Given the description of an element on the screen output the (x, y) to click on. 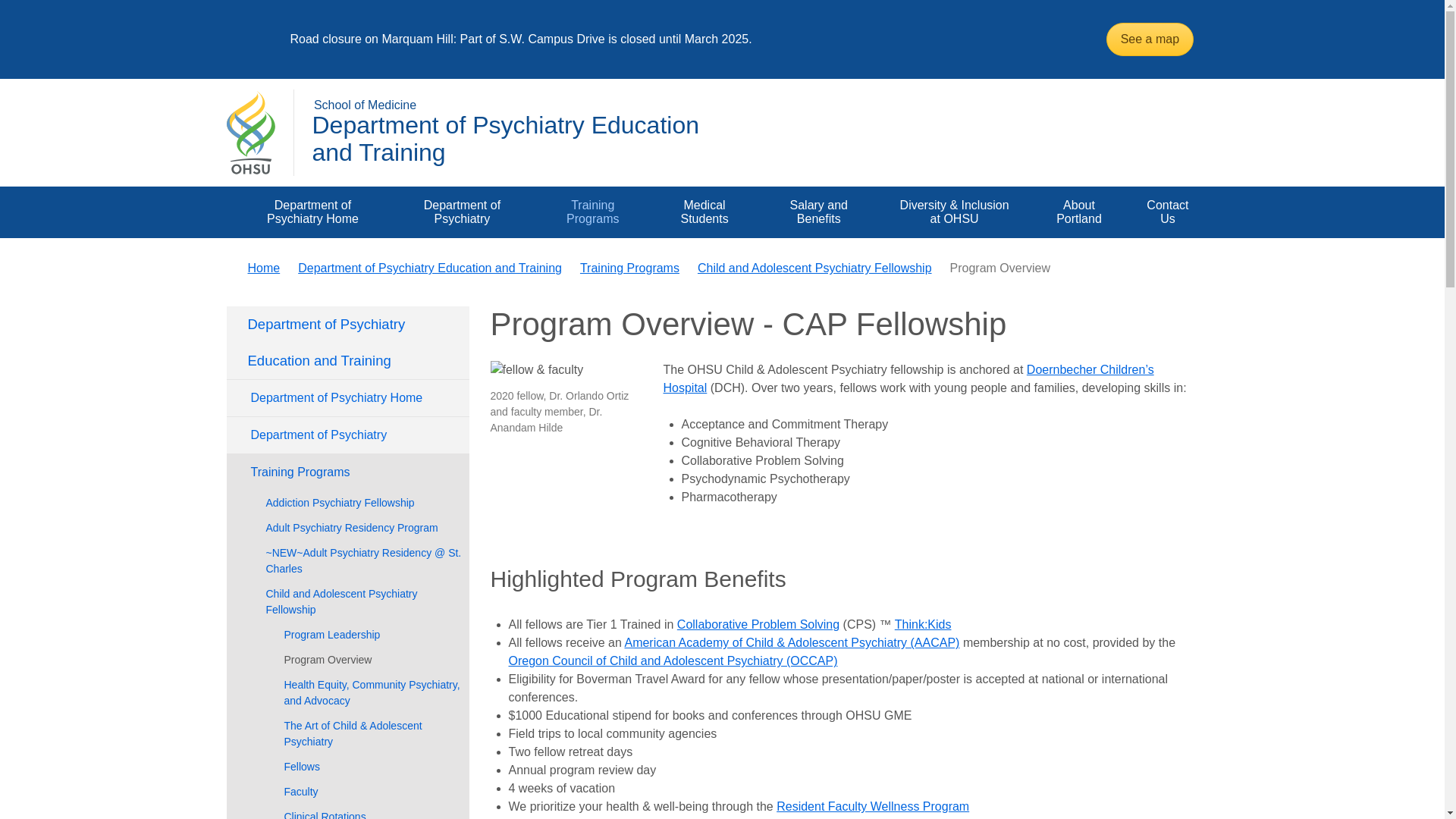
School of Medicine (365, 104)
Medical Students (703, 212)
About Portland (1079, 212)
Training Programs (592, 212)
Department of Psychiatry (461, 212)
Contact Us (1166, 212)
Home (263, 267)
Department of Psychiatry Home (311, 212)
Training Programs (592, 212)
Department of Psychiatry Education and Training (505, 138)
on (240, 191)
Department of Psychiatry Home (311, 212)
Department of Psychiatry (461, 212)
Medical Students (703, 212)
Salary and Benefits (818, 212)
